Given the description of an element on the screen output the (x, y) to click on. 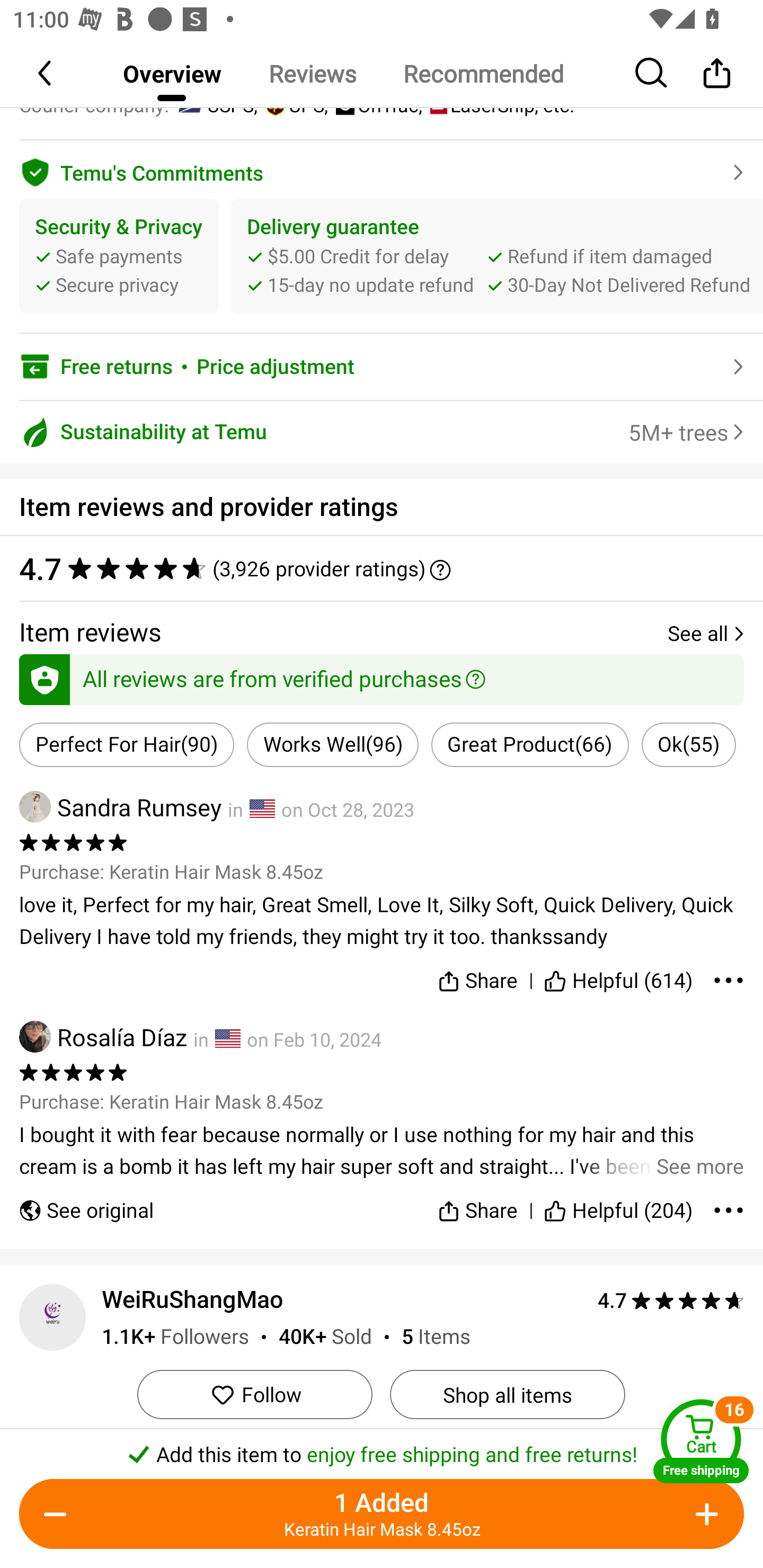
Overview (171, 72)
Reviews (311, 72)
Recommended (482, 72)
Back (46, 72)
Share (716, 72)
Temu's Commitments (381, 170)
Security & Privacy Safe payments Secure privacy (118, 256)
Free returns￼Price adjustment (381, 366)
Sustainability at Temu 5M+ trees (381, 432)
4.7 ‪(3,926 provider ratings) (381, 568)
All reviews are from verified purchases  (381, 676)
Perfect For Hair(90) (126, 744)
Works Well(96) (332, 744)
Great Product(66) (529, 744)
Ok(55) (688, 744)
Sandra Rumsey (120, 806)
  Share (477, 976)
  Helpful (614) (618, 976)
Rosalía Díaz (102, 1036)
See more (381, 1150)
  See original (86, 1202)
  Share (477, 1202)
  Helpful (204) (618, 1202)
  Follow (254, 1394)
Shop all items (506, 1394)
Cart Free shipping Cart (701, 1440)
Decrease Quantity Button (59, 1513)
Add Quantity button (703, 1513)
